Given the description of an element on the screen output the (x, y) to click on. 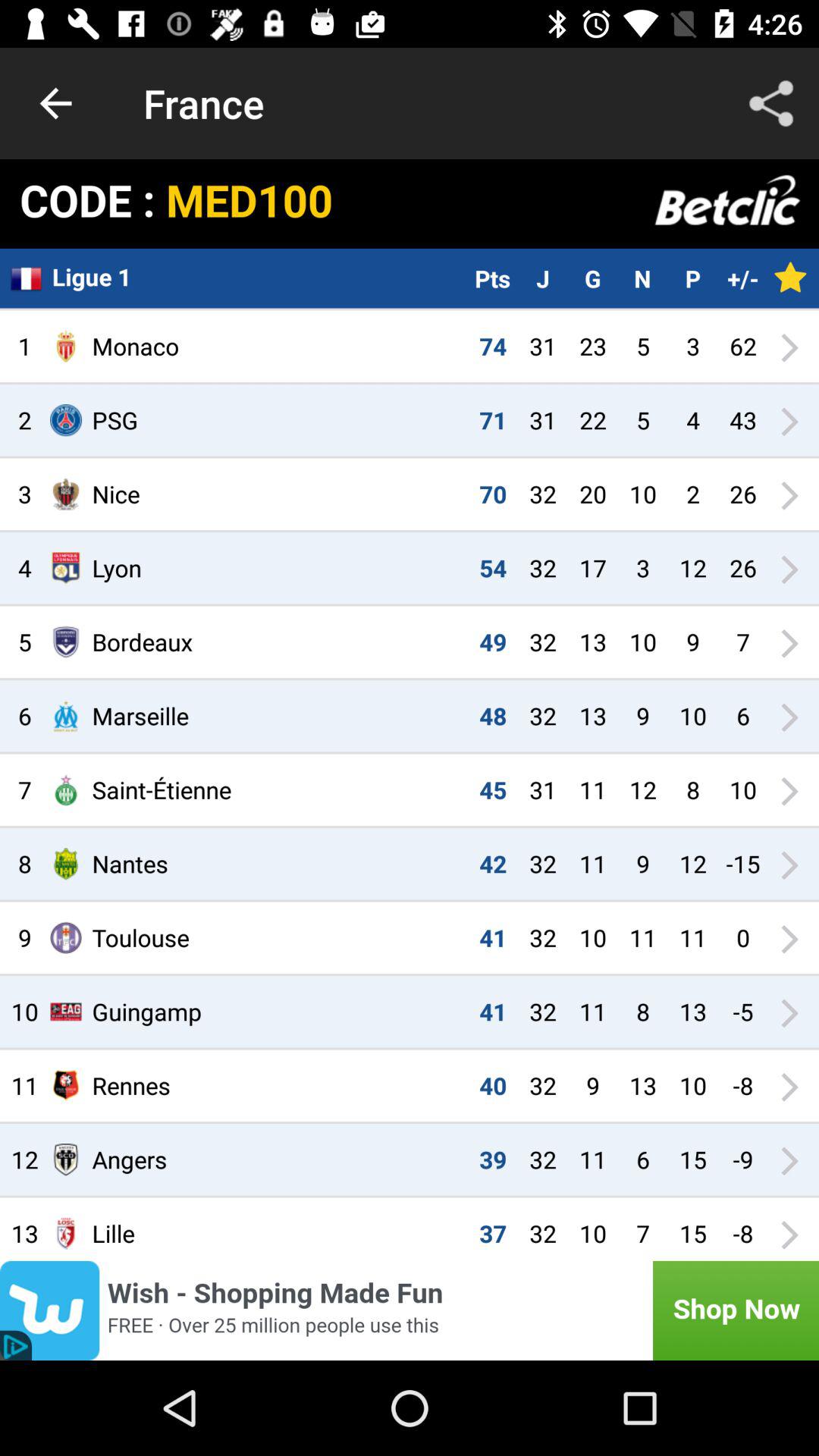
online shopping (409, 1310)
